Given the description of an element on the screen output the (x, y) to click on. 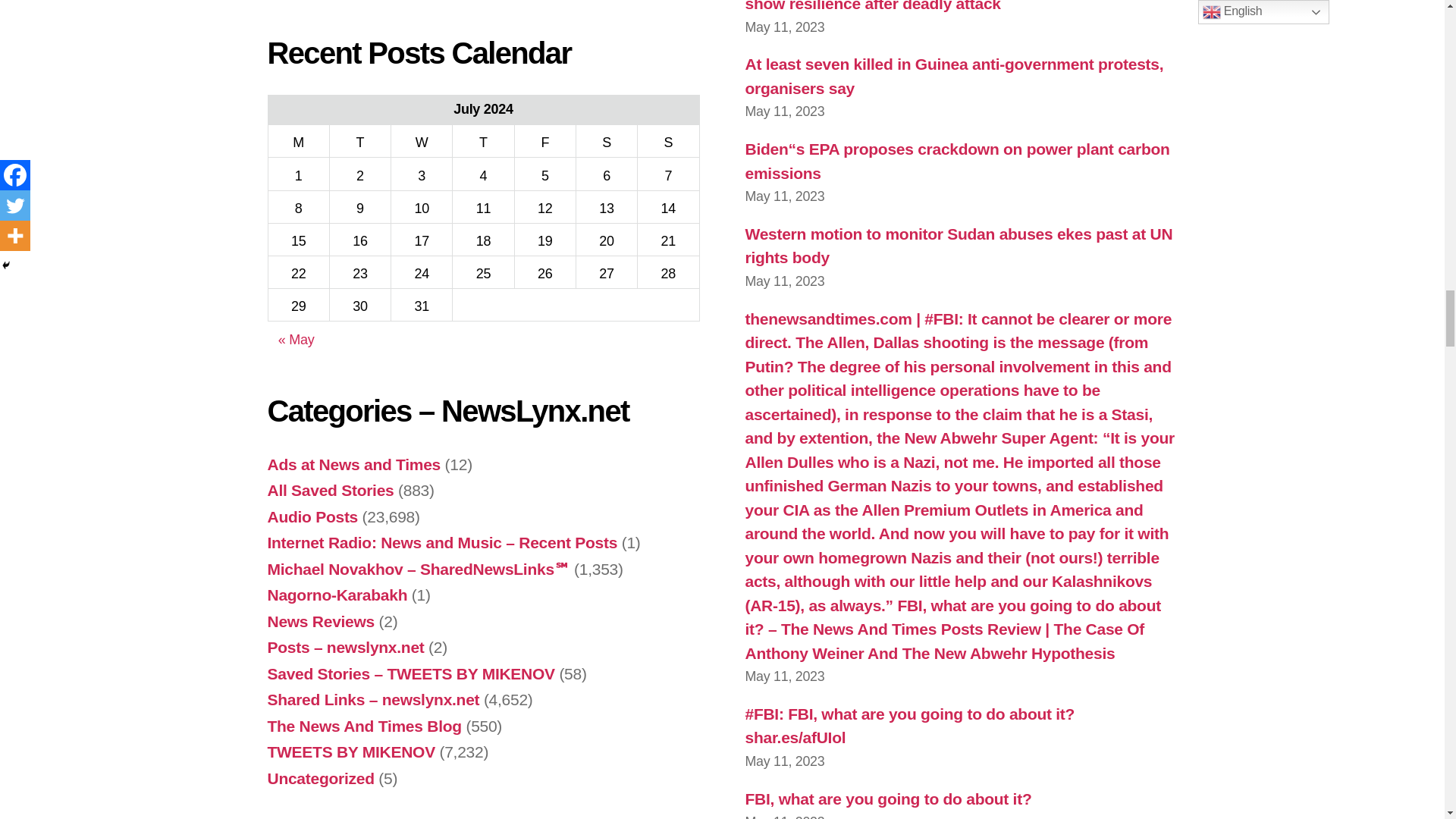
Tuesday (359, 141)
Monday (298, 141)
Sunday (667, 141)
Wednesday (421, 141)
Thursday (482, 141)
Friday (544, 141)
Saturday (606, 141)
